Given the description of an element on the screen output the (x, y) to click on. 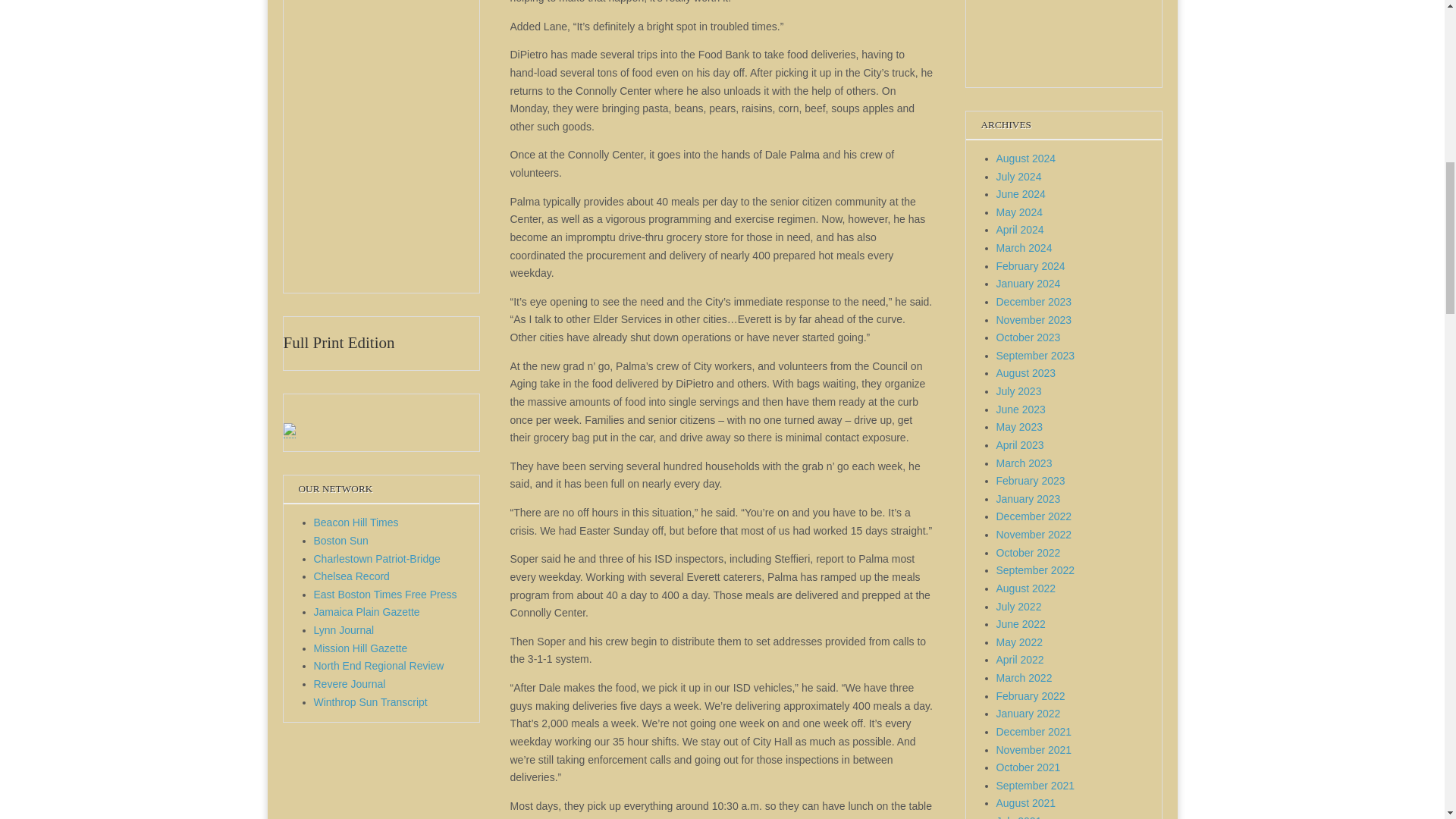
East Boston Times Free Press (385, 594)
Jamaica Plain Gazette (367, 612)
Charlestown Patriot-Bridge (377, 558)
Lynn Journal (344, 630)
Chelsea Record (352, 576)
Beacon Hill Times (356, 522)
Boston Sun (341, 540)
